Given the description of an element on the screen output the (x, y) to click on. 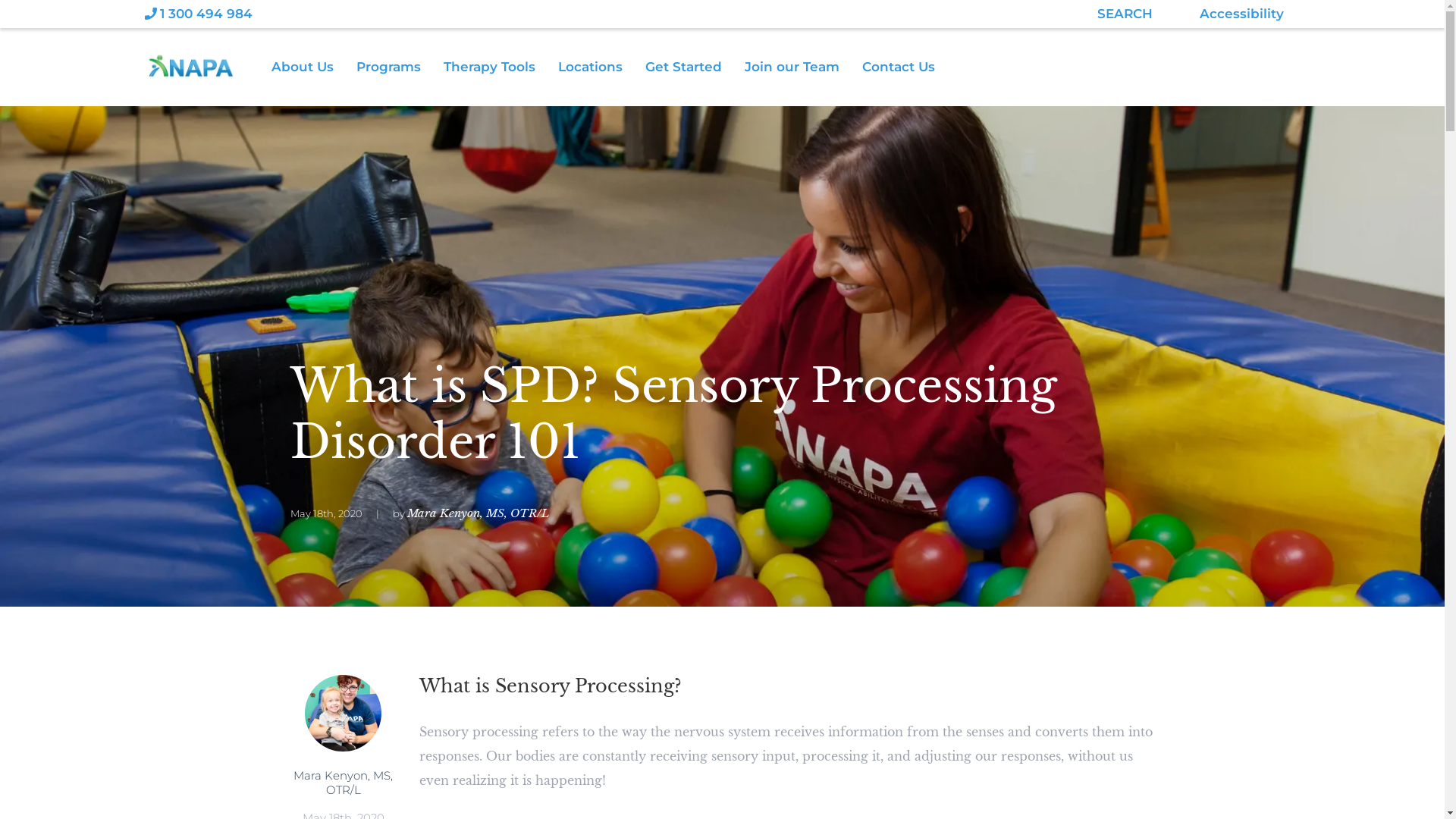
Programs Element type: text (399, 66)
Get Started Element type: text (694, 66)
SEARCH Element type: text (917, 13)
Contact Us Element type: text (909, 66)
About Us Element type: text (313, 66)
Therapy Tools Element type: text (500, 66)
NAPA Element type: hover (190, 66)
1 300 494 984 Element type: text (197, 13)
Join our Team Element type: text (803, 66)
Locations Element type: text (601, 66)
Accessibility Element type: text (1234, 13)
